Given the description of an element on the screen output the (x, y) to click on. 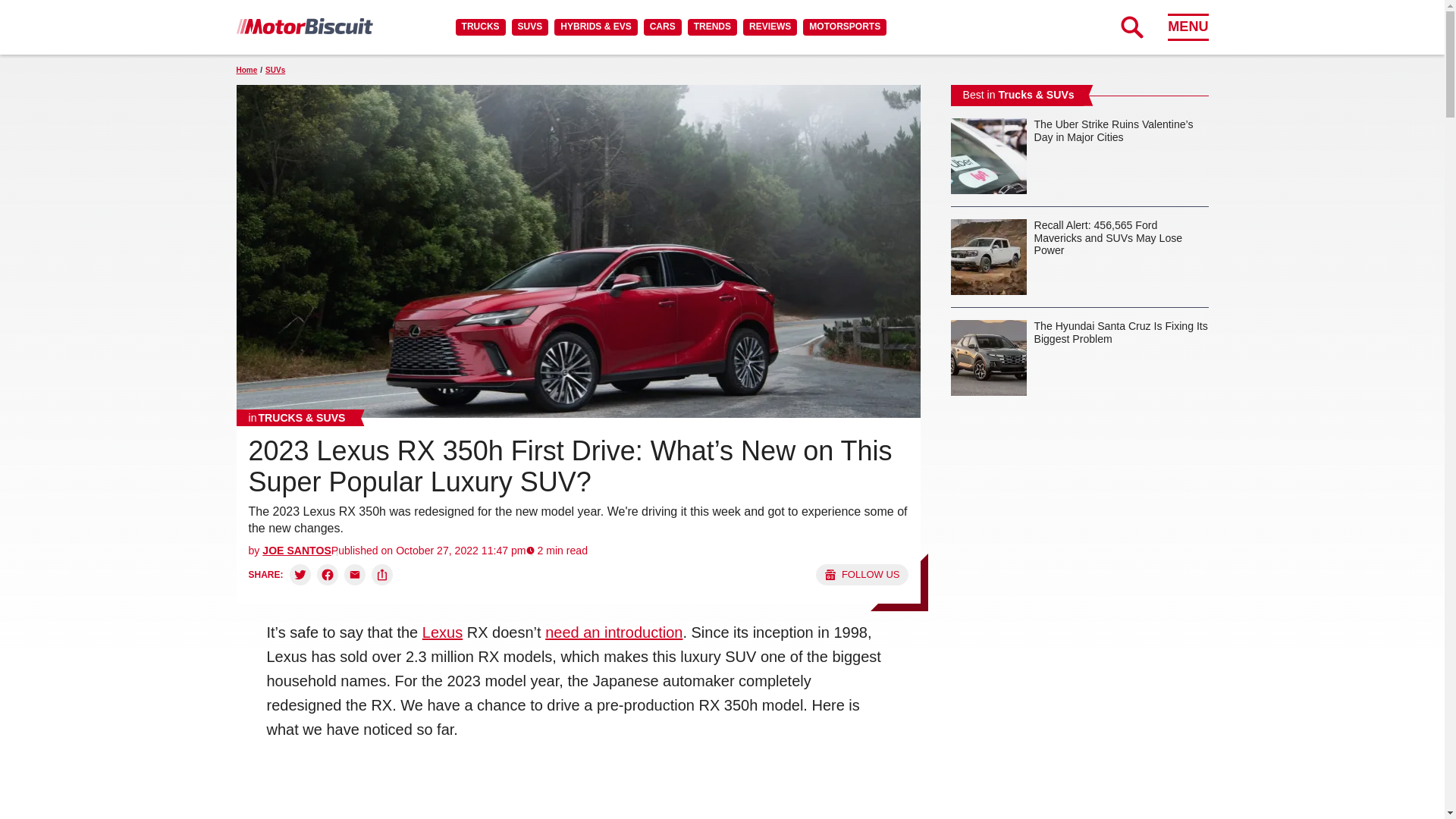
TRENDS (711, 26)
MENU (1187, 26)
Copy link and share:  (382, 574)
MotorBiscuit (303, 26)
MOTORSPORTS (844, 26)
Follow us on Google News (861, 574)
SUVS (530, 26)
REVIEWS (769, 26)
CARS (662, 26)
Expand Search (1131, 26)
TRUCKS (480, 26)
